Given the description of an element on the screen output the (x, y) to click on. 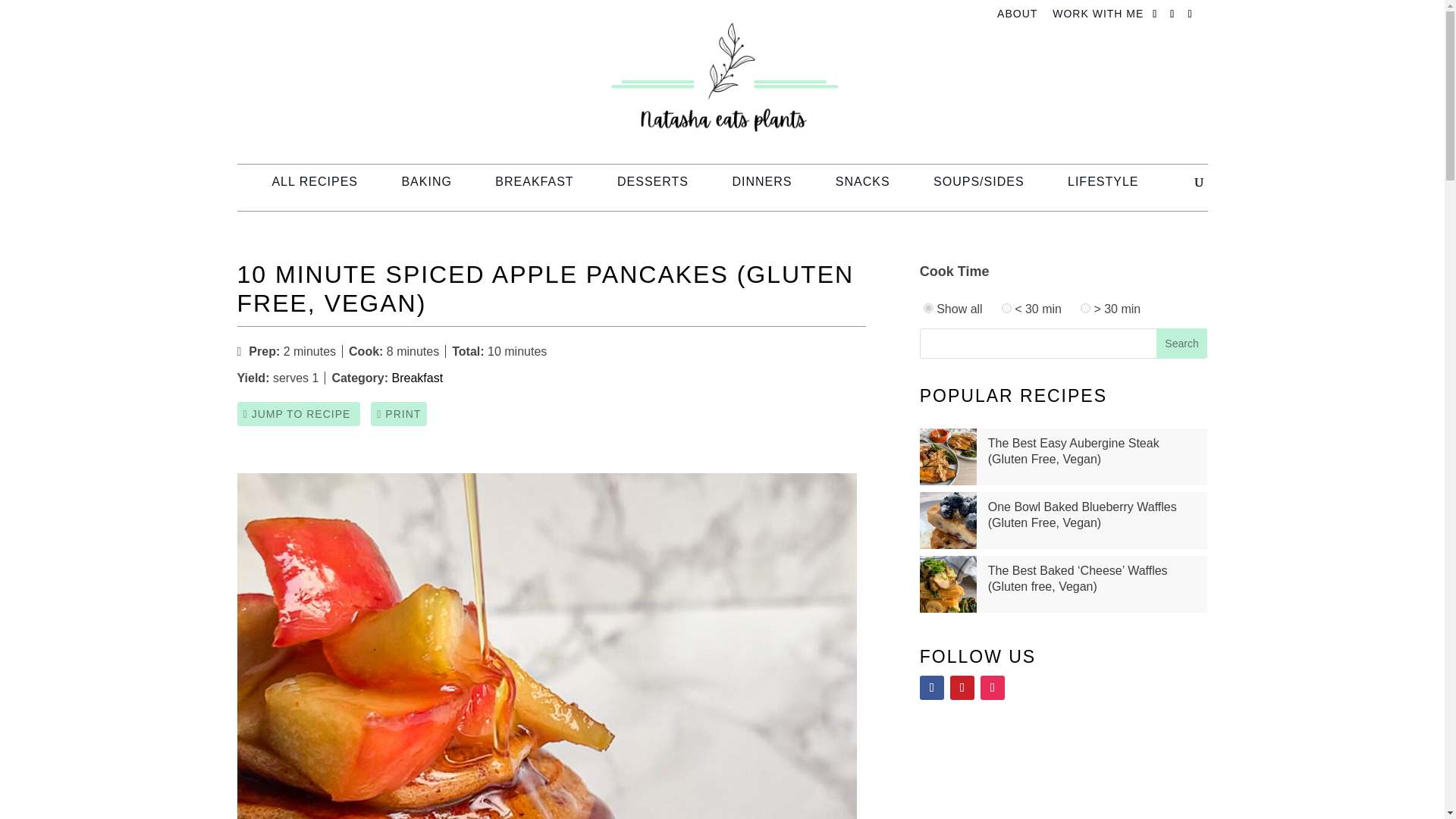
WORK WITH ME (1097, 16)
SNACKS (862, 187)
Search (1182, 343)
LIFESTYLE (1102, 187)
BREAKFAST (534, 187)
all (928, 307)
more (1085, 307)
Follow on Facebook (931, 687)
DINNERS (762, 187)
Follow on Instagram (991, 687)
